Given the description of an element on the screen output the (x, y) to click on. 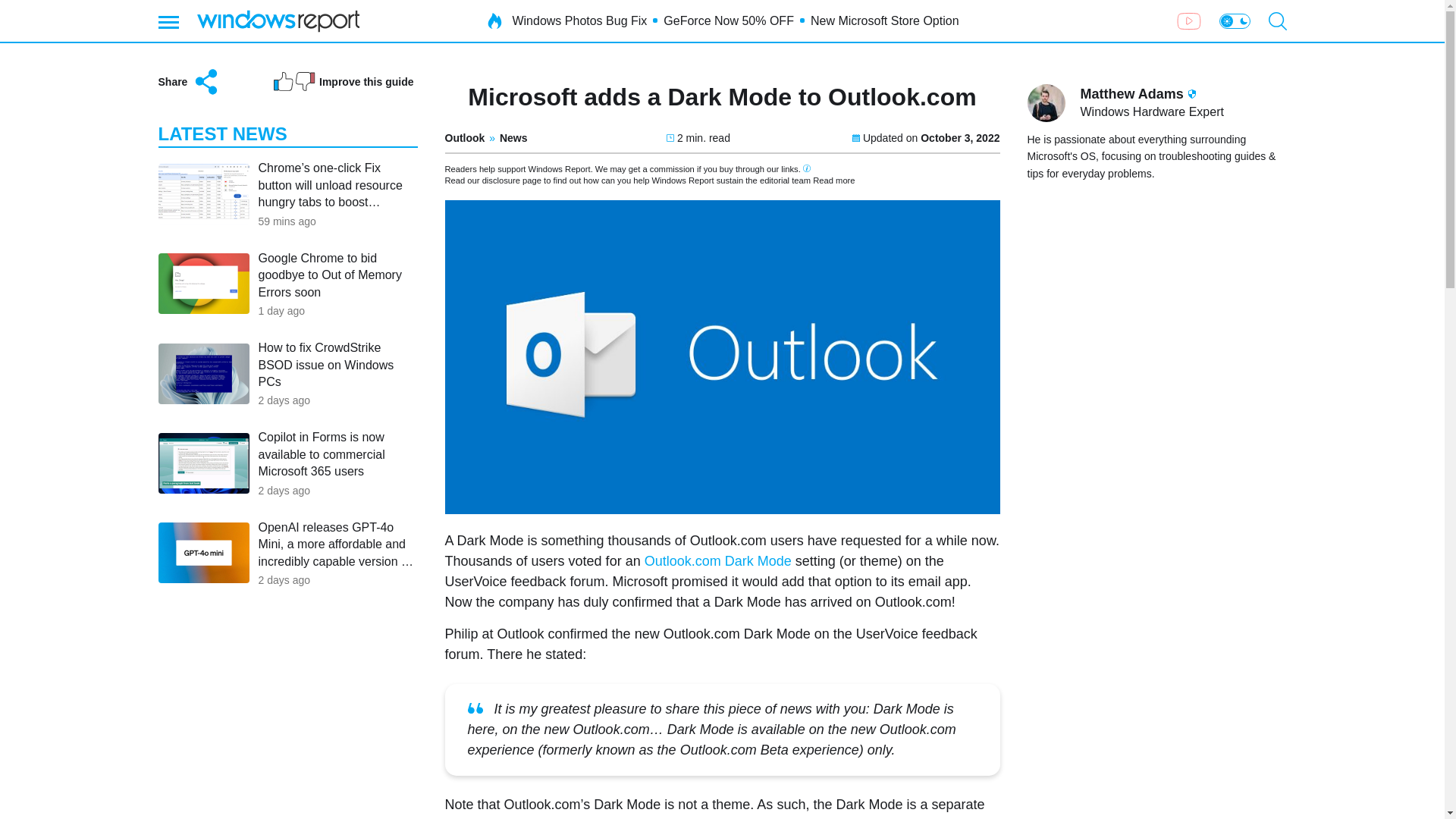
Share this article (189, 81)
Windows Photos Bug Fix (579, 21)
Open search bar (1276, 21)
Outlook (464, 137)
How to fix CrowdStrike BSOD issue on Windows PCs (286, 374)
Google Chrome to bid goodbye to Out of Memory Errors soon (336, 364)
News (336, 275)
New Microsoft Store Option (513, 137)
Share (884, 21)
